Given the description of an element on the screen output the (x, y) to click on. 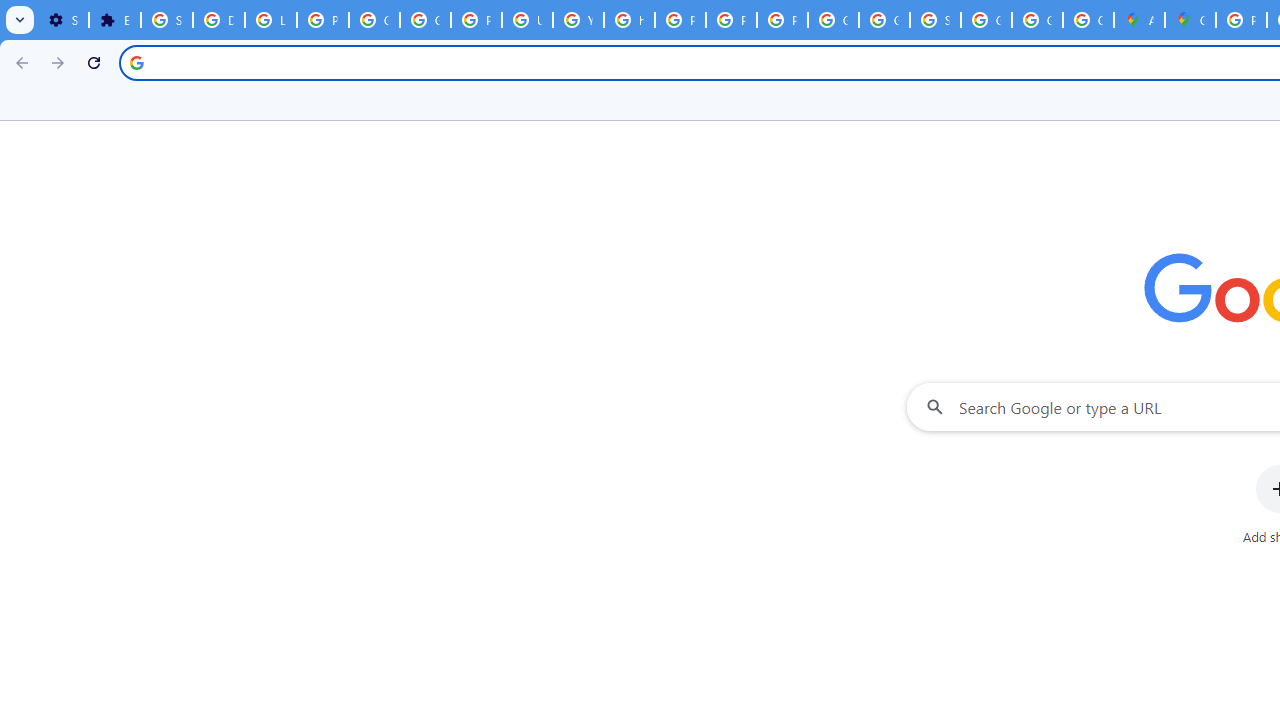
Delete photos & videos - Computer - Google Photos Help (218, 20)
